Given the description of an element on the screen output the (x, y) to click on. 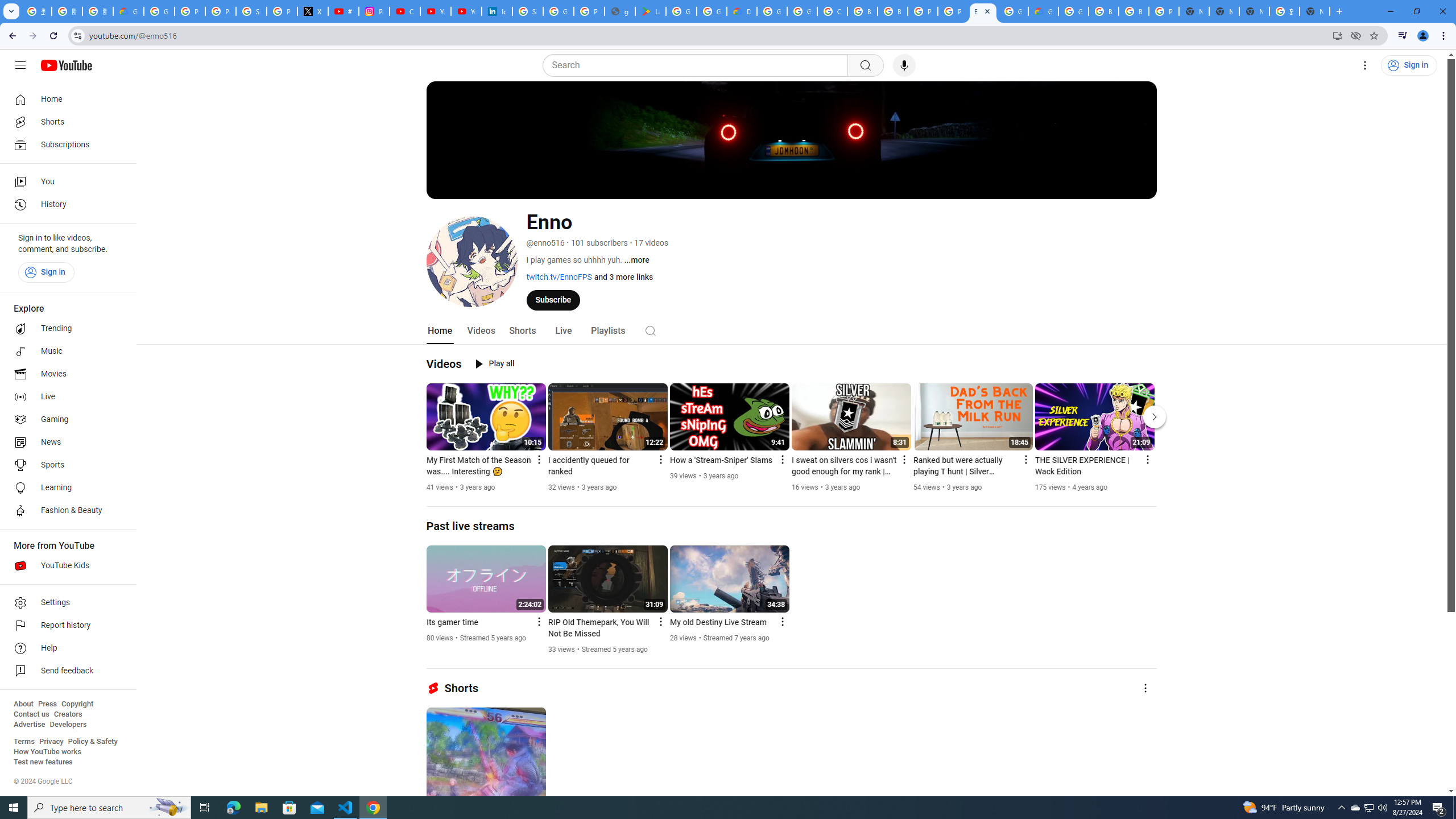
Browse Chrome as a guest - Computer - Google Chrome Help (1103, 11)
Shorts (521, 330)
Search with your voice (903, 65)
Videos (481, 330)
New Tab (1314, 11)
Live (562, 330)
YouTube Home (66, 65)
